Given the description of an element on the screen output the (x, y) to click on. 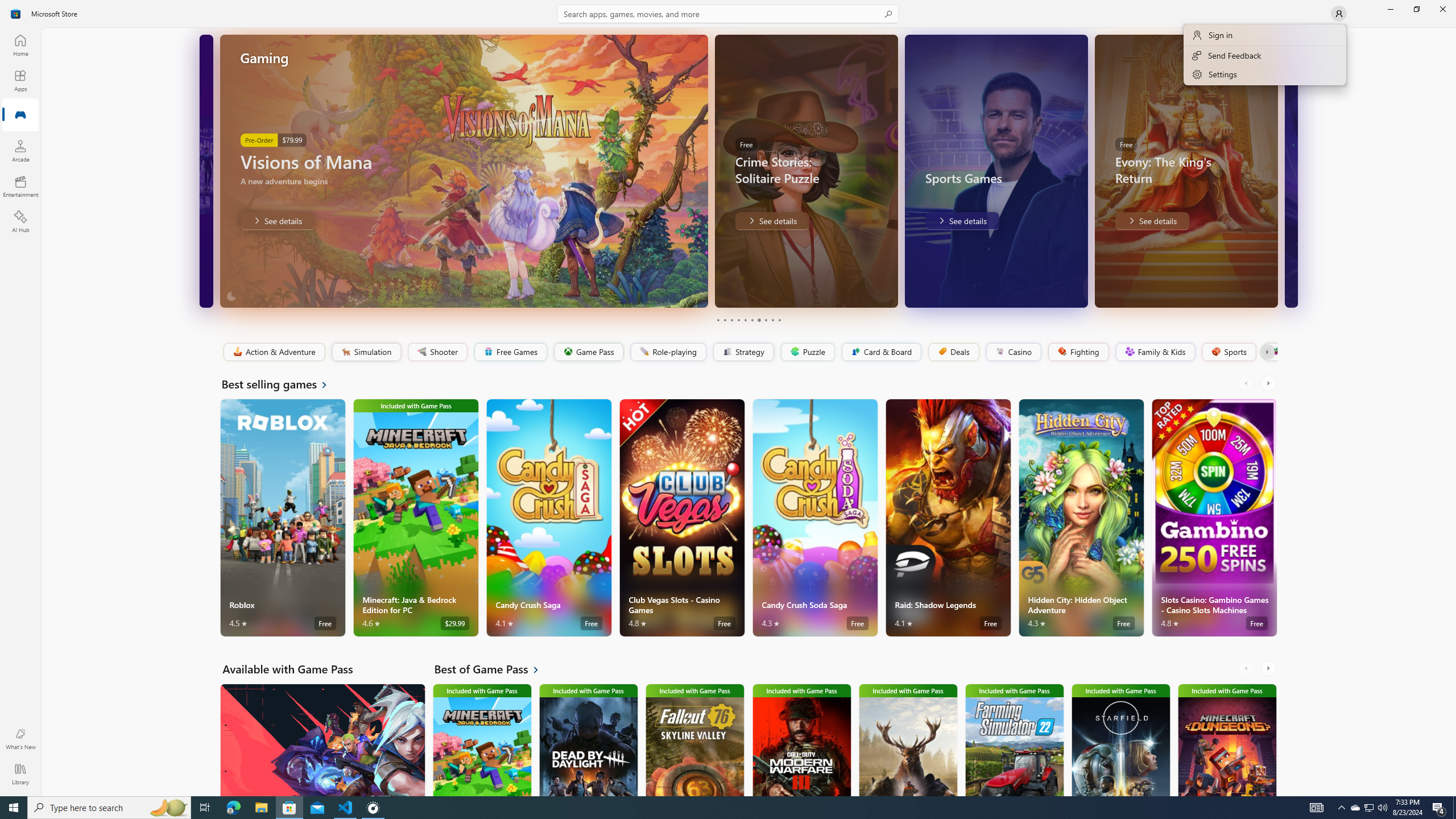
See all  Best of Game Pass (493, 668)
AutomationID: Image (1290, 170)
Class: Button (1266, 351)
Strategy (742, 352)
Role-playing (668, 352)
Search (727, 13)
Deals (952, 352)
Roblox. Average rating of 4.5 out of five stars. Free   (282, 517)
Page 5 (744, 319)
